Given the description of an element on the screen output the (x, y) to click on. 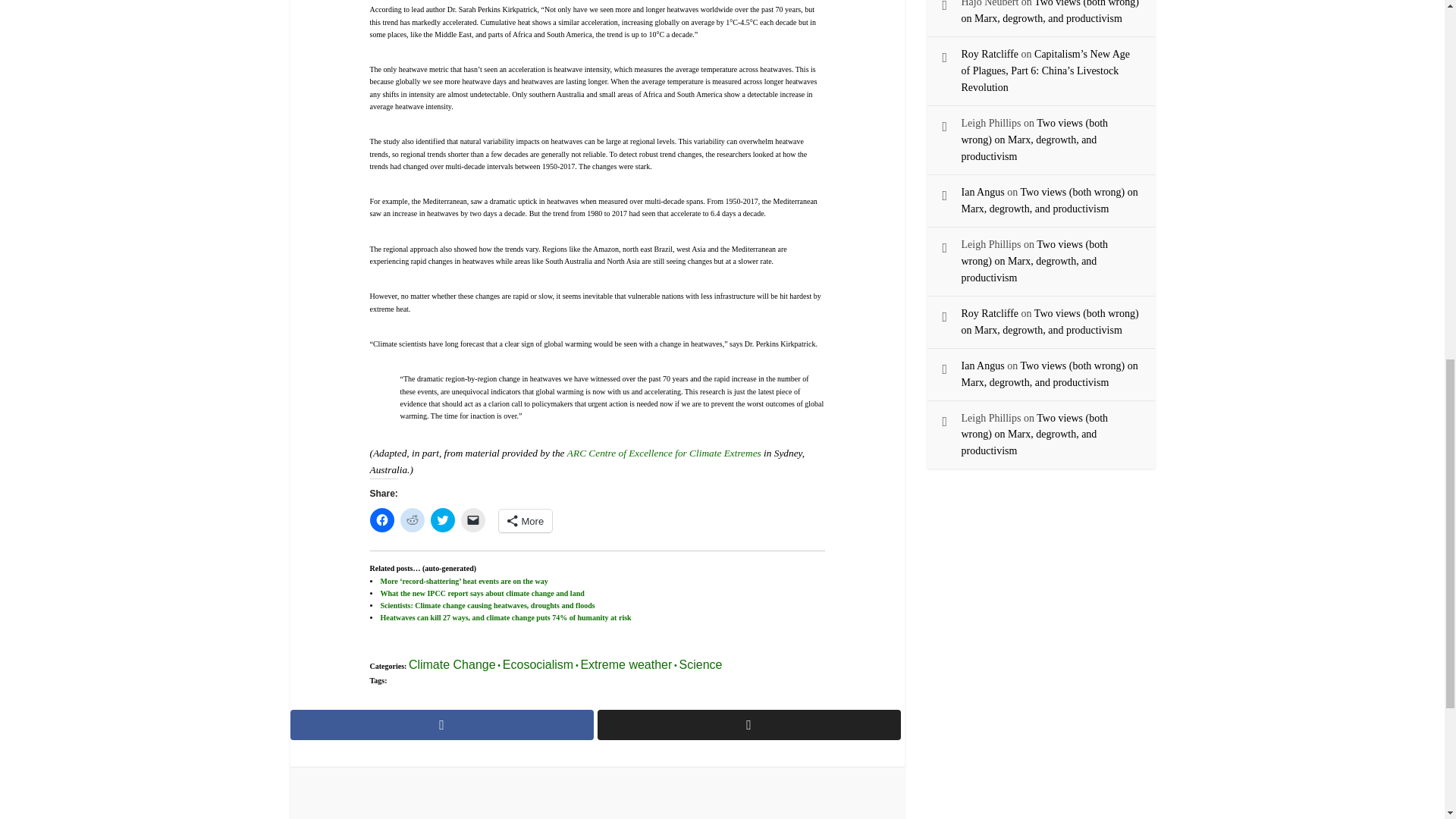
Click to share on Facebook (381, 519)
Click to share on Twitter (442, 519)
ARC Centre of Excellence for Climate Extremes (664, 452)
Click to share on Reddit (412, 519)
Click to email a link to a friend (472, 519)
